Given the description of an element on the screen output the (x, y) to click on. 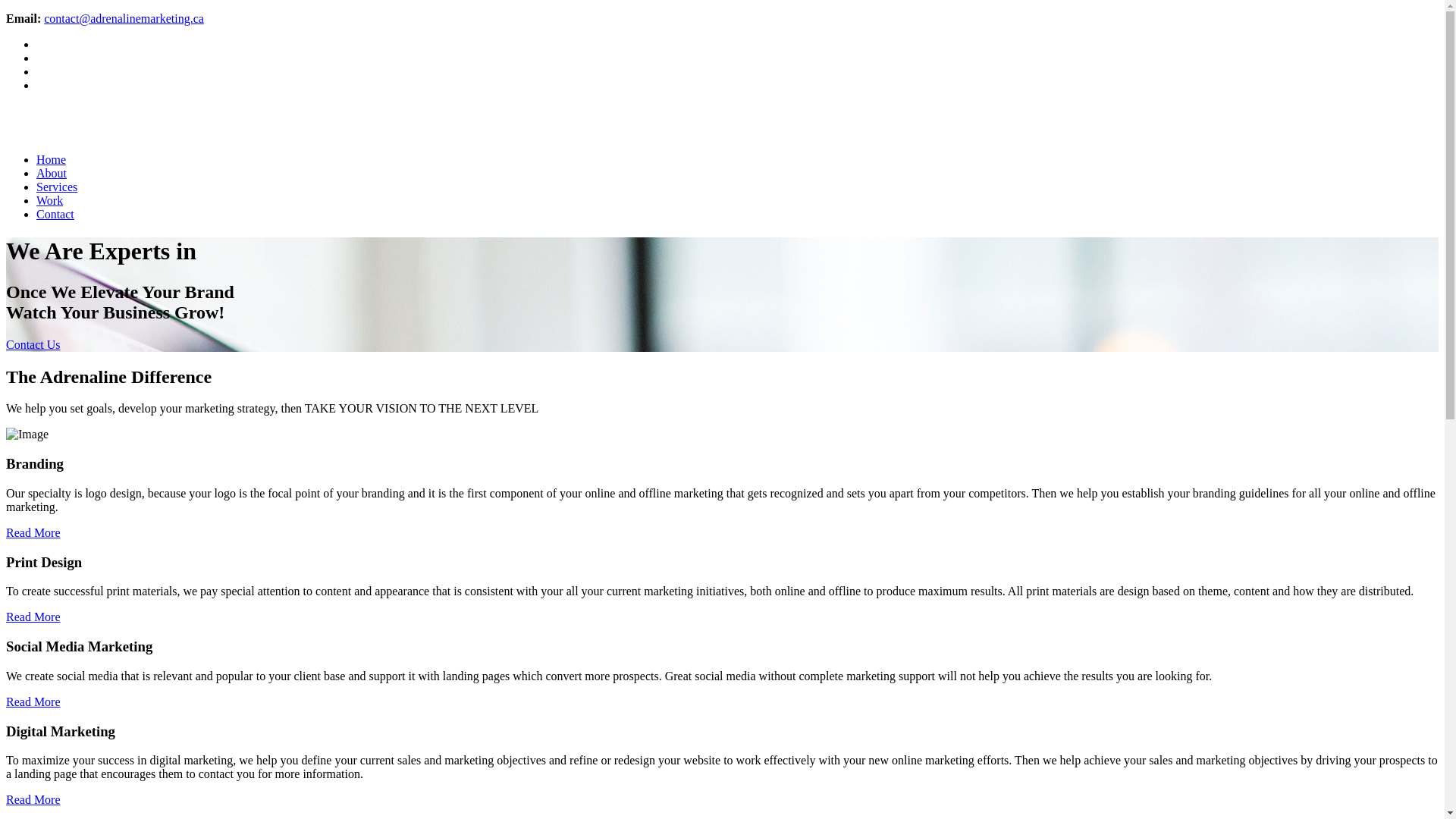
Contact Us Element type: text (33, 344)
Contact Element type: text (55, 213)
Read More Element type: text (33, 799)
Services Element type: text (56, 186)
contact@adrenalinemarketing.ca Element type: text (123, 18)
Home Element type: text (50, 159)
Work Element type: text (49, 200)
About Element type: text (51, 172)
Read More Element type: text (33, 701)
Read More Element type: text (33, 616)
Read More Element type: text (33, 532)
